Given the description of an element on the screen output the (x, y) to click on. 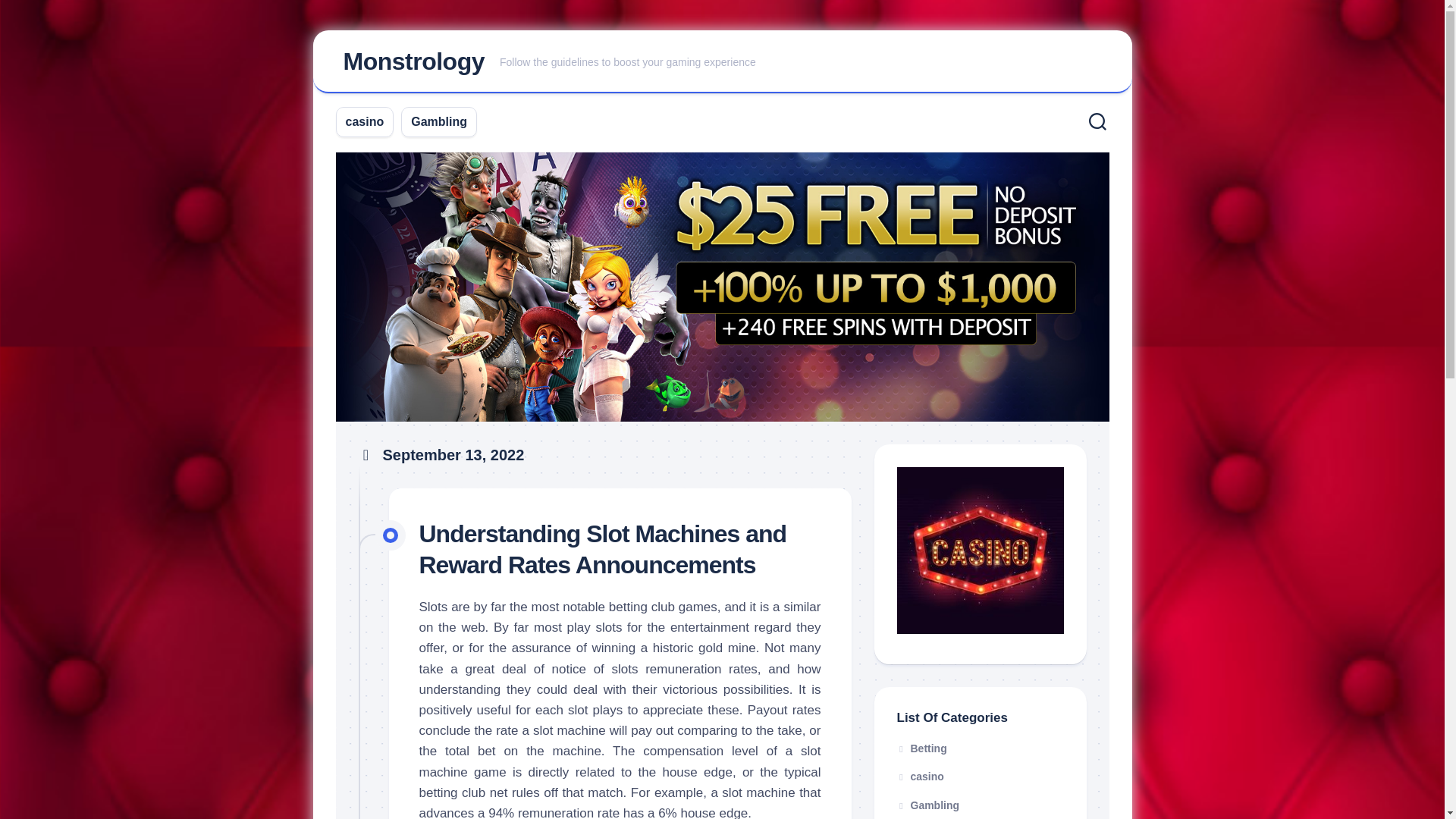
Gambling (438, 121)
Understanding Slot Machines and Reward Rates Announcements (602, 549)
casino (919, 776)
casino (365, 121)
Monstrology (412, 61)
Gambling (927, 805)
Betting (921, 748)
